Given the description of an element on the screen output the (x, y) to click on. 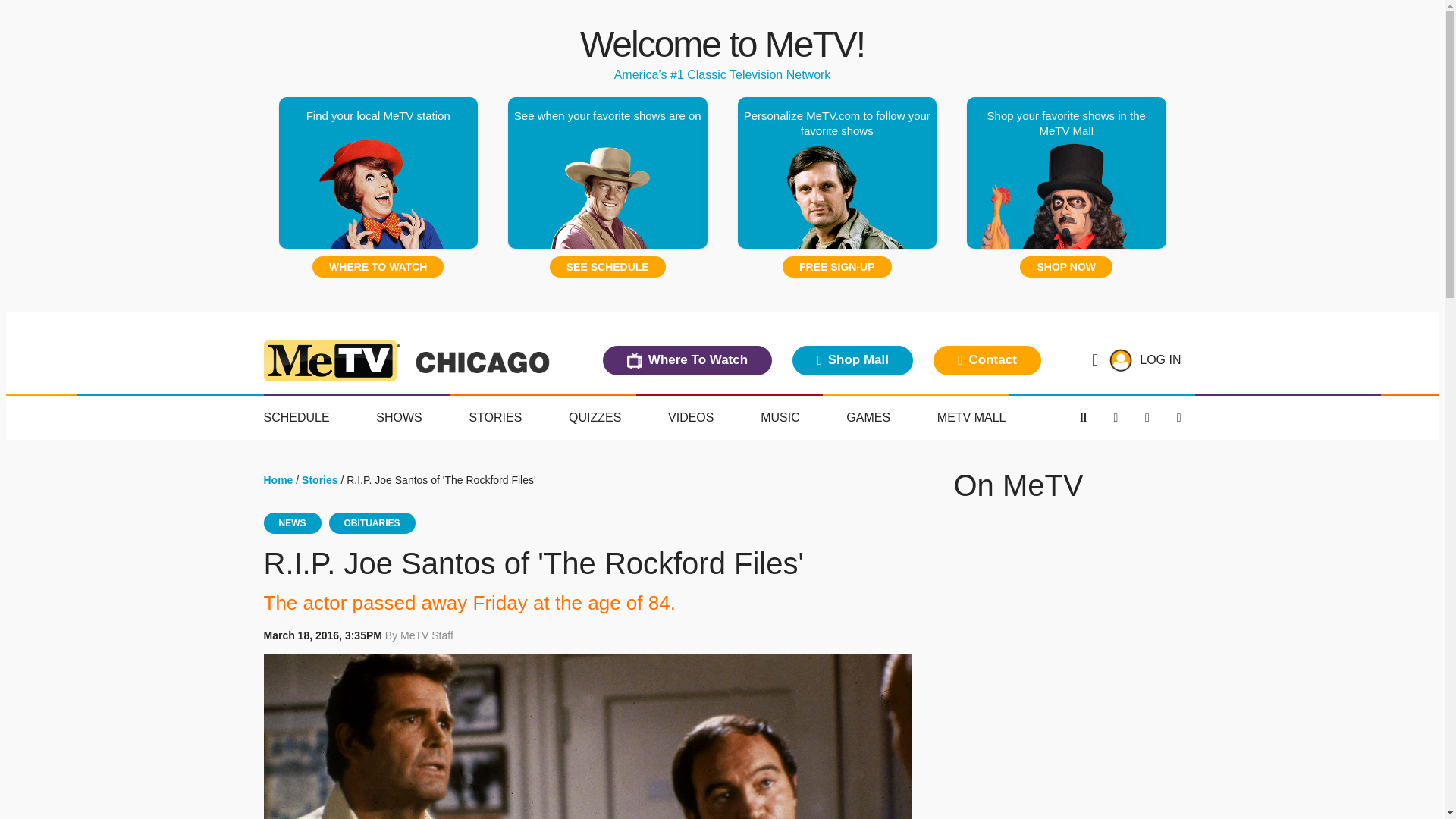
Contact (987, 360)
LOG IN (1160, 359)
SHOWS (398, 417)
WHERE TO WATCH (378, 266)
SHOP NOW (1066, 266)
FREE SIGN-UP (837, 266)
METV MALL (971, 417)
Personalize MeTV.com to follow your favorite shows (836, 172)
See when your favorite shows are on (607, 172)
QUIZZES (595, 417)
